Given the description of an element on the screen output the (x, y) to click on. 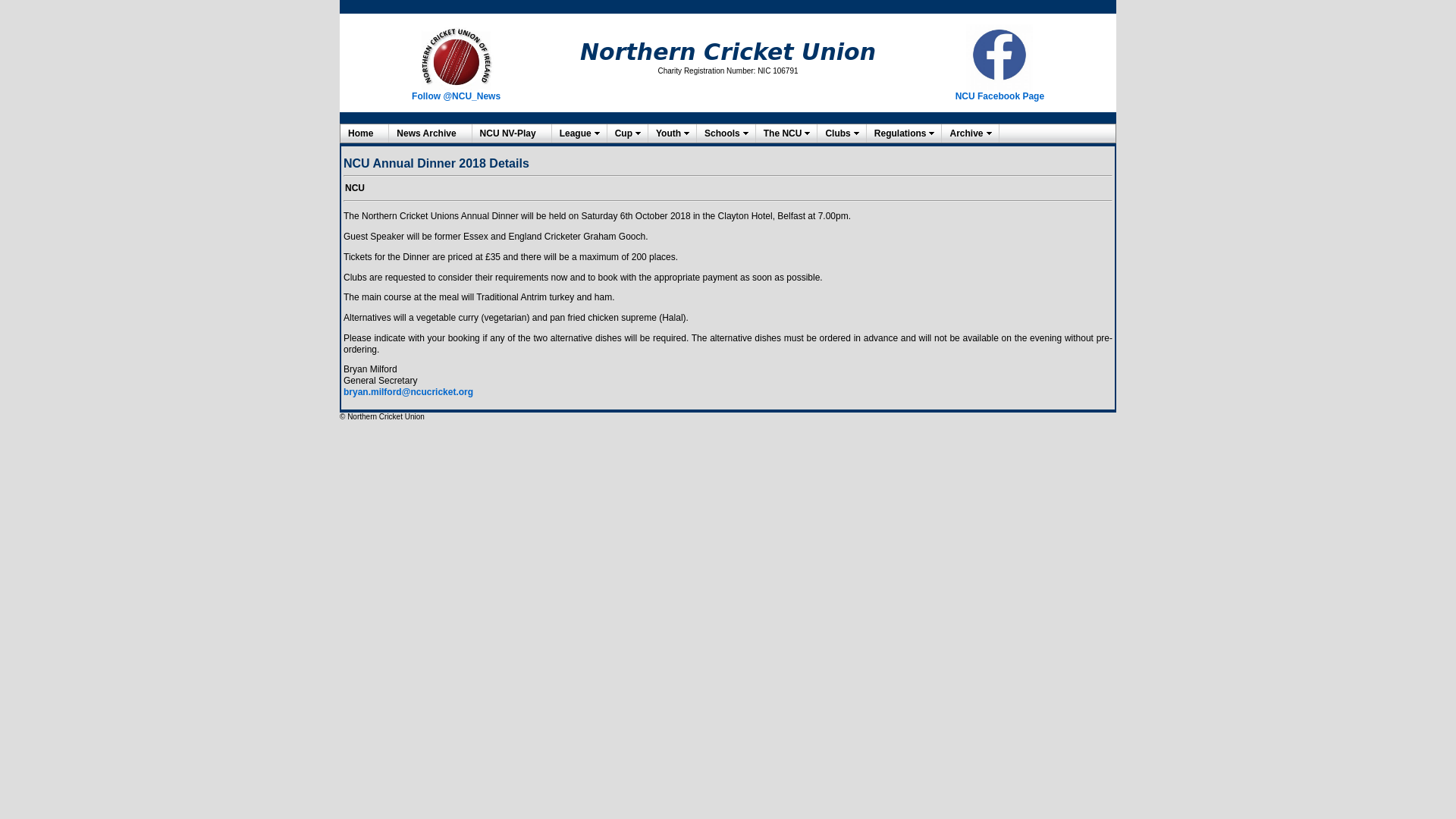
News Archive (429, 133)
League (579, 133)
NCU Facebook Page (999, 95)
Home (364, 133)
Email Bryan about the Annual Dinner (408, 391)
NCU NV-Play (511, 133)
NCU Facebook Page (999, 57)
Cup (627, 133)
NCU Facebook Page (999, 95)
